Given the description of an element on the screen output the (x, y) to click on. 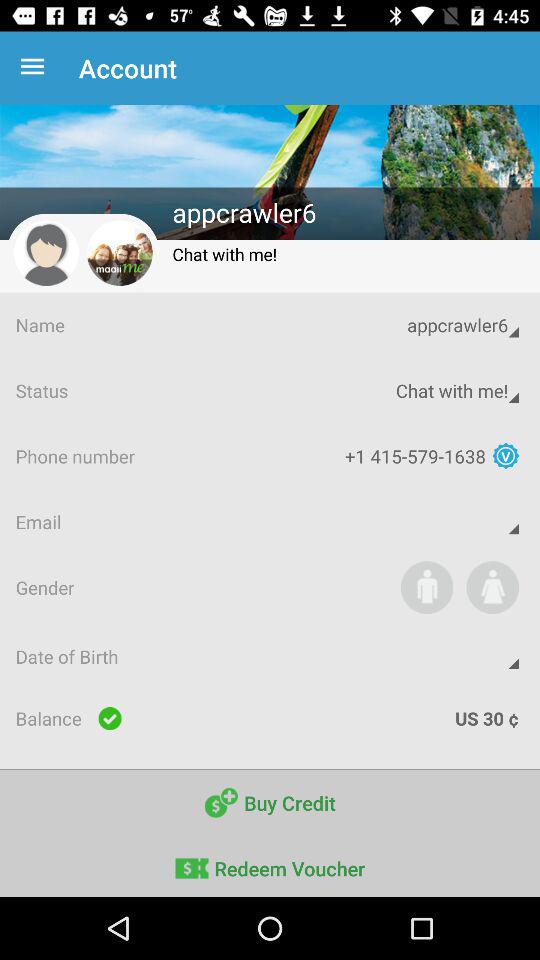
select item to the right of gender icon (426, 587)
